Given the description of an element on the screen output the (x, y) to click on. 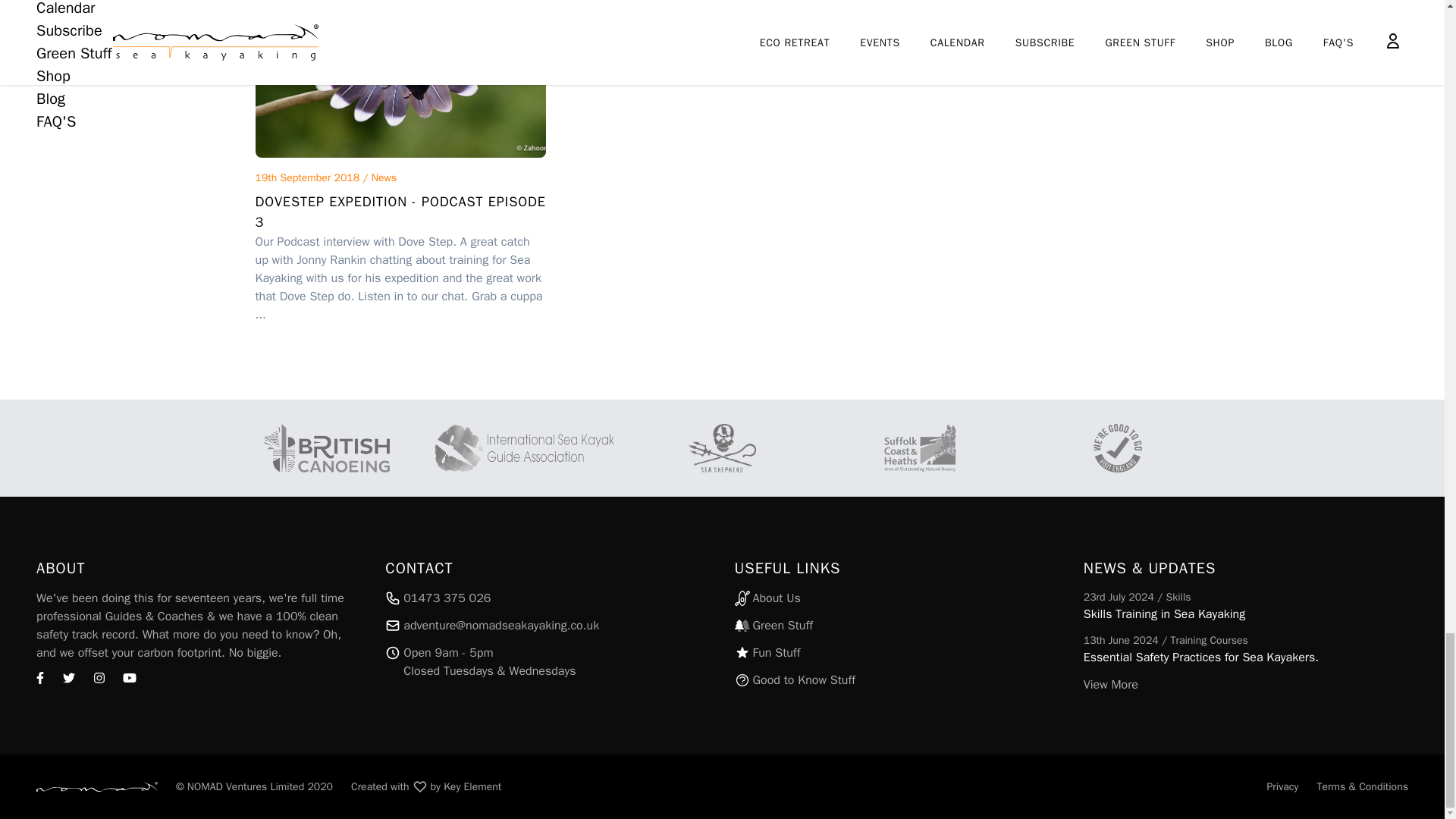
About Us (425, 786)
01473 375 026 (895, 597)
View More (547, 597)
Fun Stuff (1245, 684)
Green Stuff (895, 652)
Good to Know Stuff (895, 625)
